Given the description of an element on the screen output the (x, y) to click on. 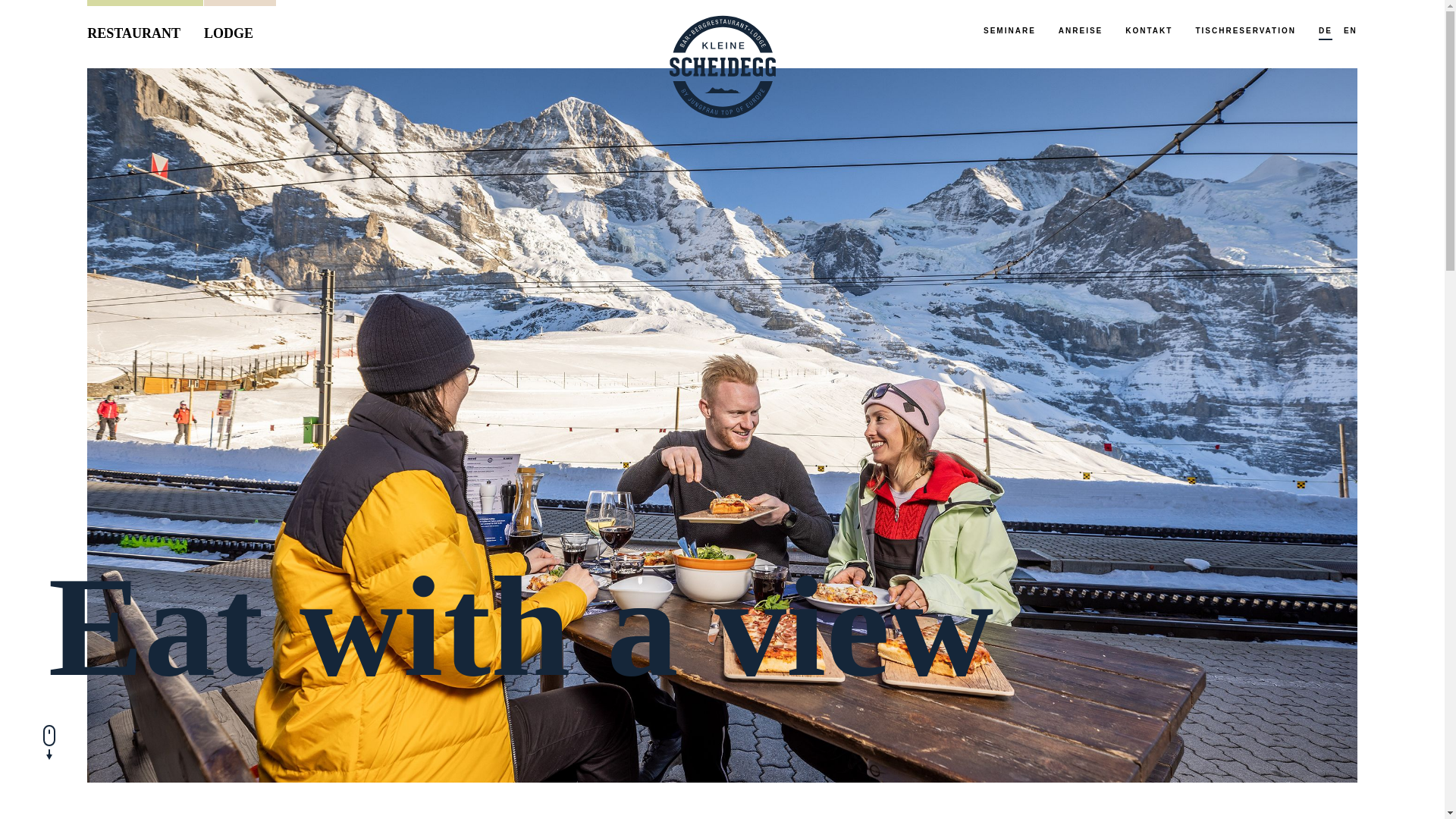
EN Element type: text (1350, 31)
ANREISE Element type: text (1080, 31)
KONTAKT Element type: text (1148, 31)
RESTAURANT Element type: text (145, 26)
Bergrestaurant Kleine Scheidegg Element type: text (721, 68)
SEMINARE Element type: text (1009, 31)
TISCHRESERVATION Element type: text (1245, 31)
LODGE Element type: text (239, 26)
DE Element type: text (1325, 31)
